Given the description of an element on the screen output the (x, y) to click on. 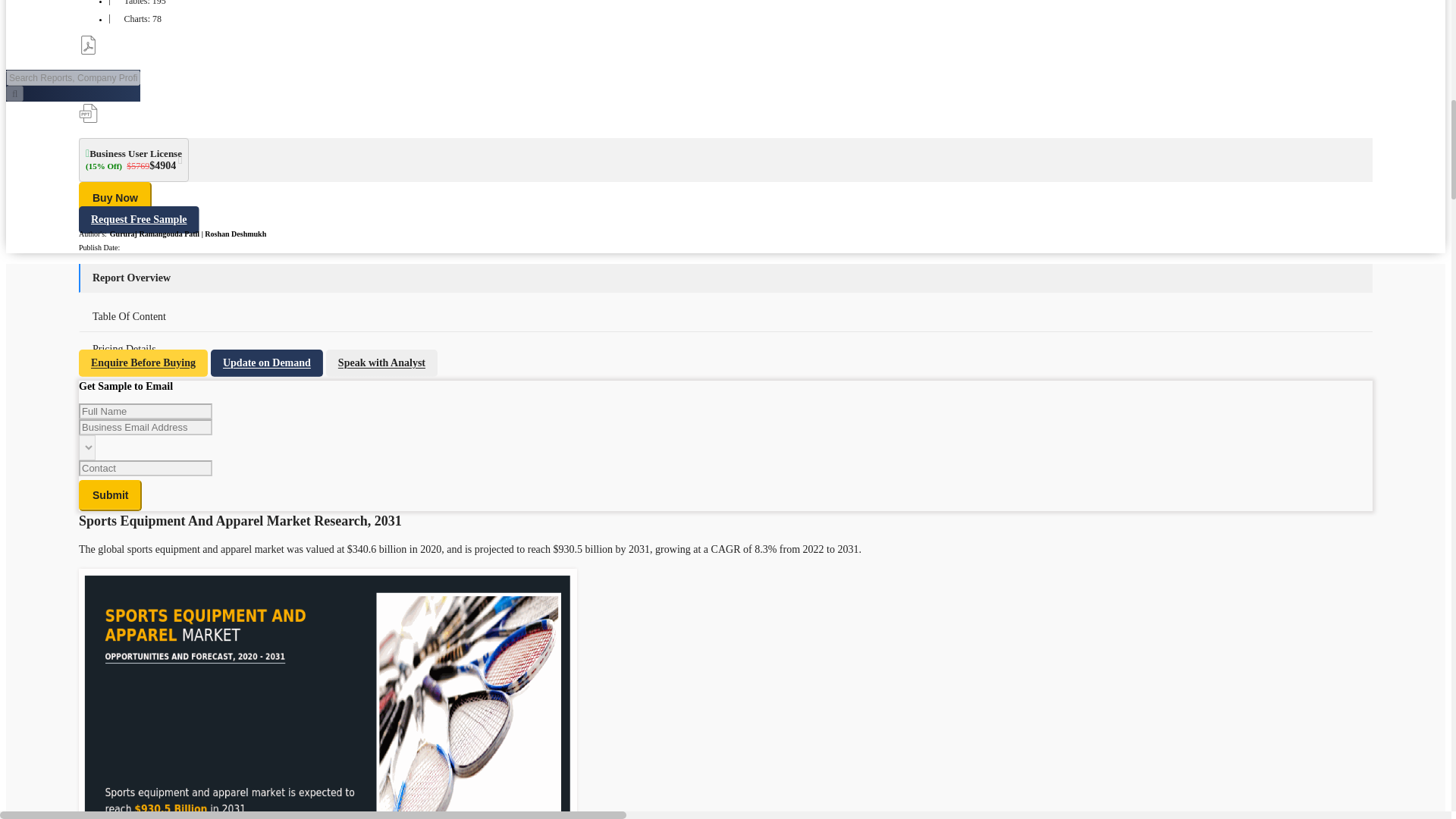
Buy Now (114, 196)
Enquire Before Buying (143, 362)
Buy Now (114, 196)
Request Free Sample (138, 219)
Speak with Analyst (382, 362)
Update on Demand (267, 362)
Table Of Content (129, 316)
Pricing Details (123, 349)
Data Pack Excel (87, 78)
Submit (109, 495)
